Given the description of an element on the screen output the (x, y) to click on. 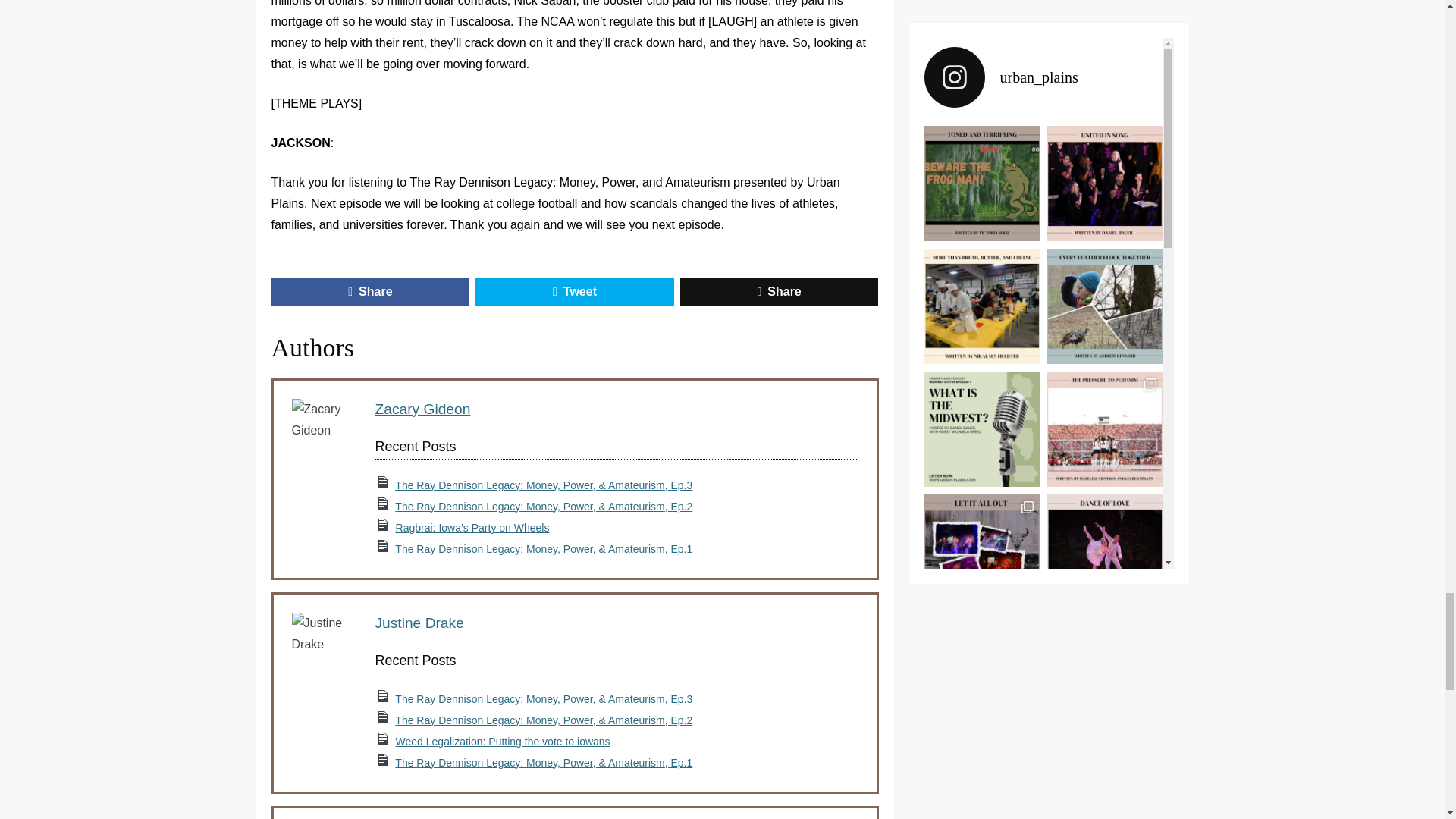
Weed Legalization: Putting the vote to iowans (503, 741)
Justine Drake (418, 622)
Zacary Gideon (422, 408)
